Given the description of an element on the screen output the (x, y) to click on. 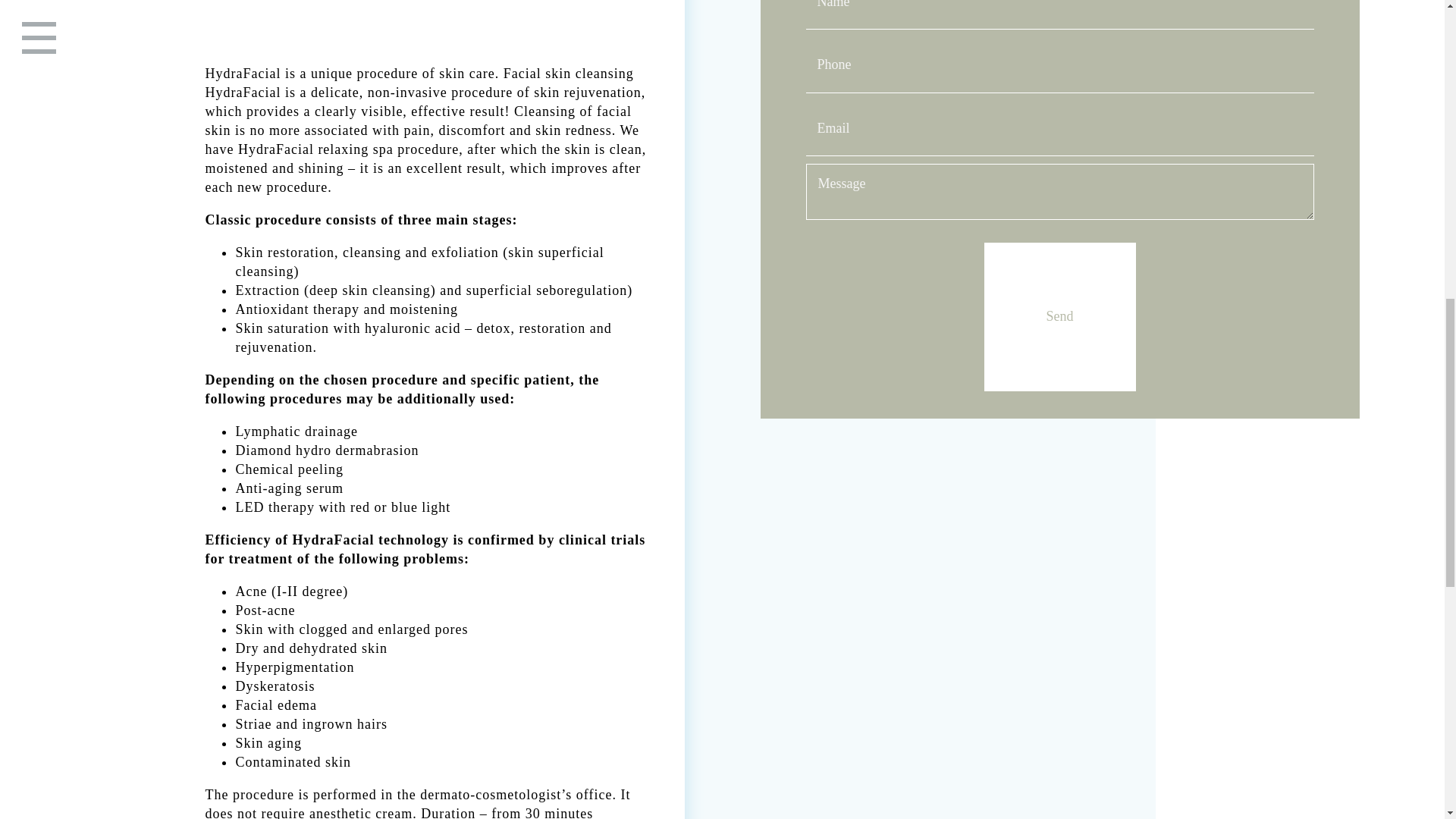
Send (1059, 316)
Only digits (1059, 64)
Send (1059, 316)
